Given the description of an element on the screen output the (x, y) to click on. 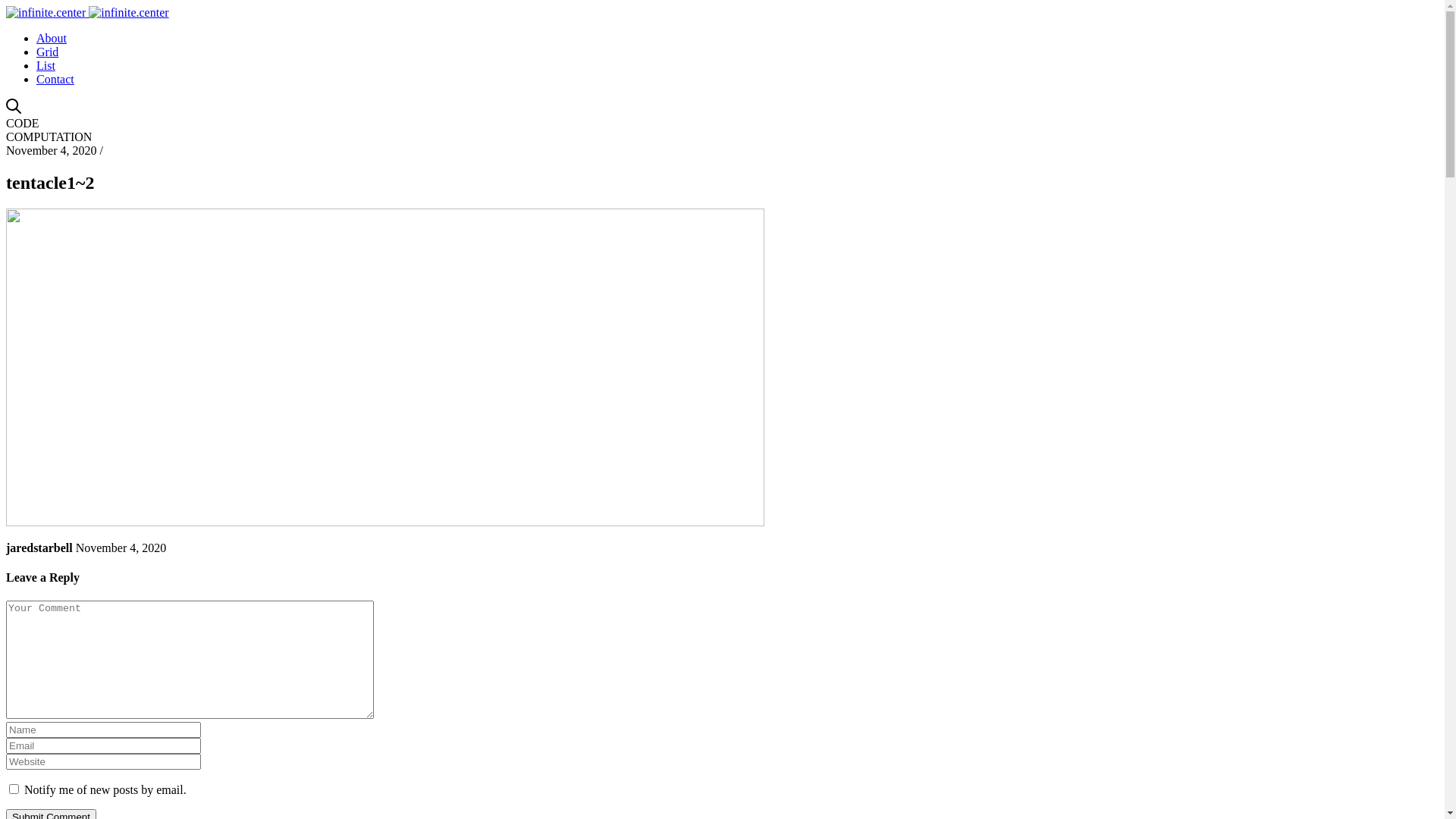
About Element type: text (51, 37)
Contact Element type: text (55, 78)
Grid Element type: text (47, 51)
List Element type: text (45, 65)
